Given the description of an element on the screen output the (x, y) to click on. 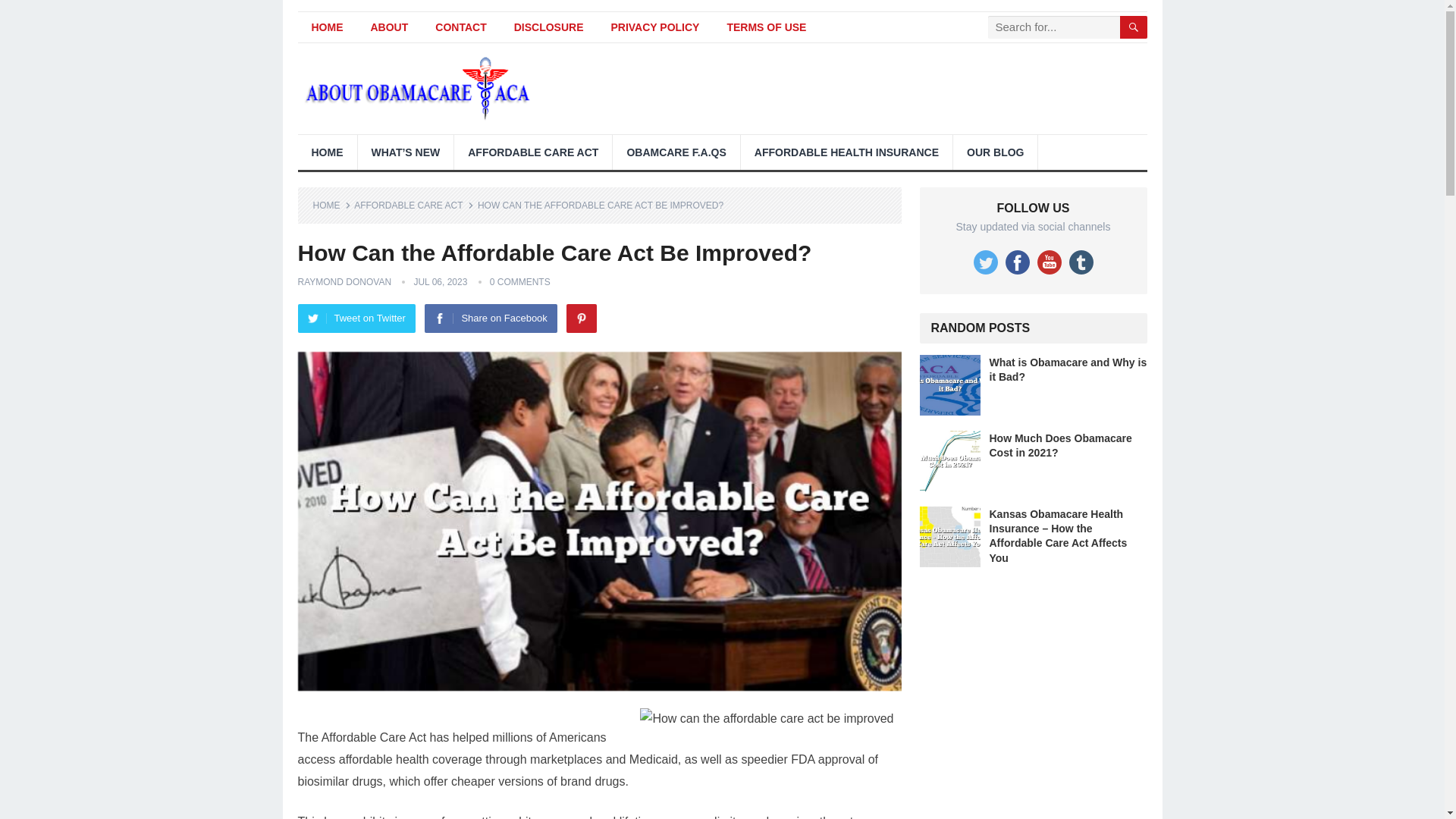
ABOUT (389, 27)
Share on Facebook (490, 317)
HOME (326, 152)
HOME (331, 204)
Posts by Raymond Donovan (344, 281)
AFFORDABLE CARE ACT (532, 152)
CONTACT (460, 27)
DISCLOSURE (548, 27)
AFFORDABLE CARE ACT (413, 204)
HOME (326, 27)
OUR BLOG (994, 152)
OBAMCARE F.A.QS (675, 152)
Pinterest (581, 317)
Tweet on Twitter (355, 317)
AFFORDABLE HEALTH INSURANCE (846, 152)
